Given the description of an element on the screen output the (x, y) to click on. 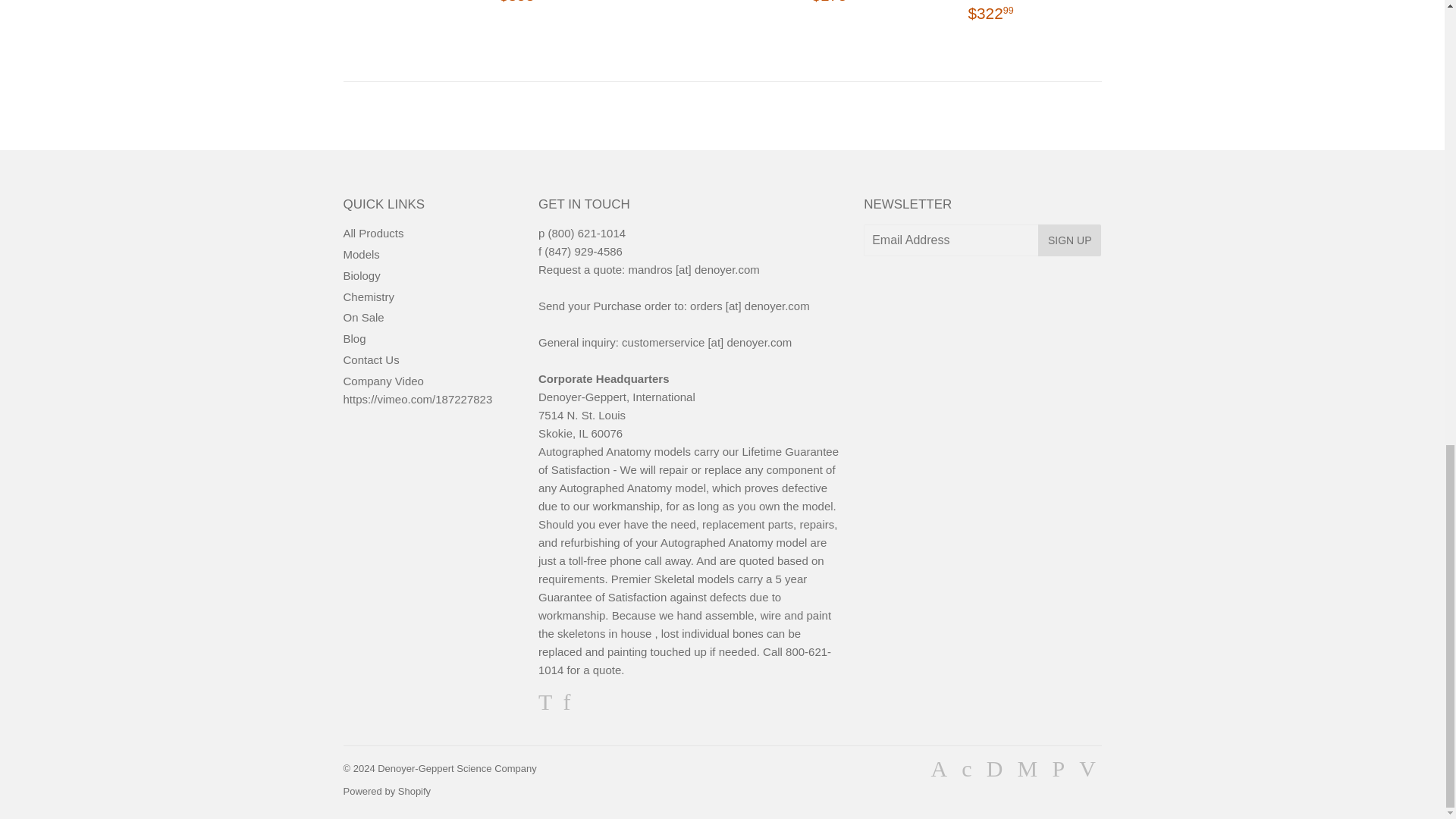
Denoyer-Geppert Science Company on Twitter (544, 705)
Sign Up (1070, 240)
